Given the description of an element on the screen output the (x, y) to click on. 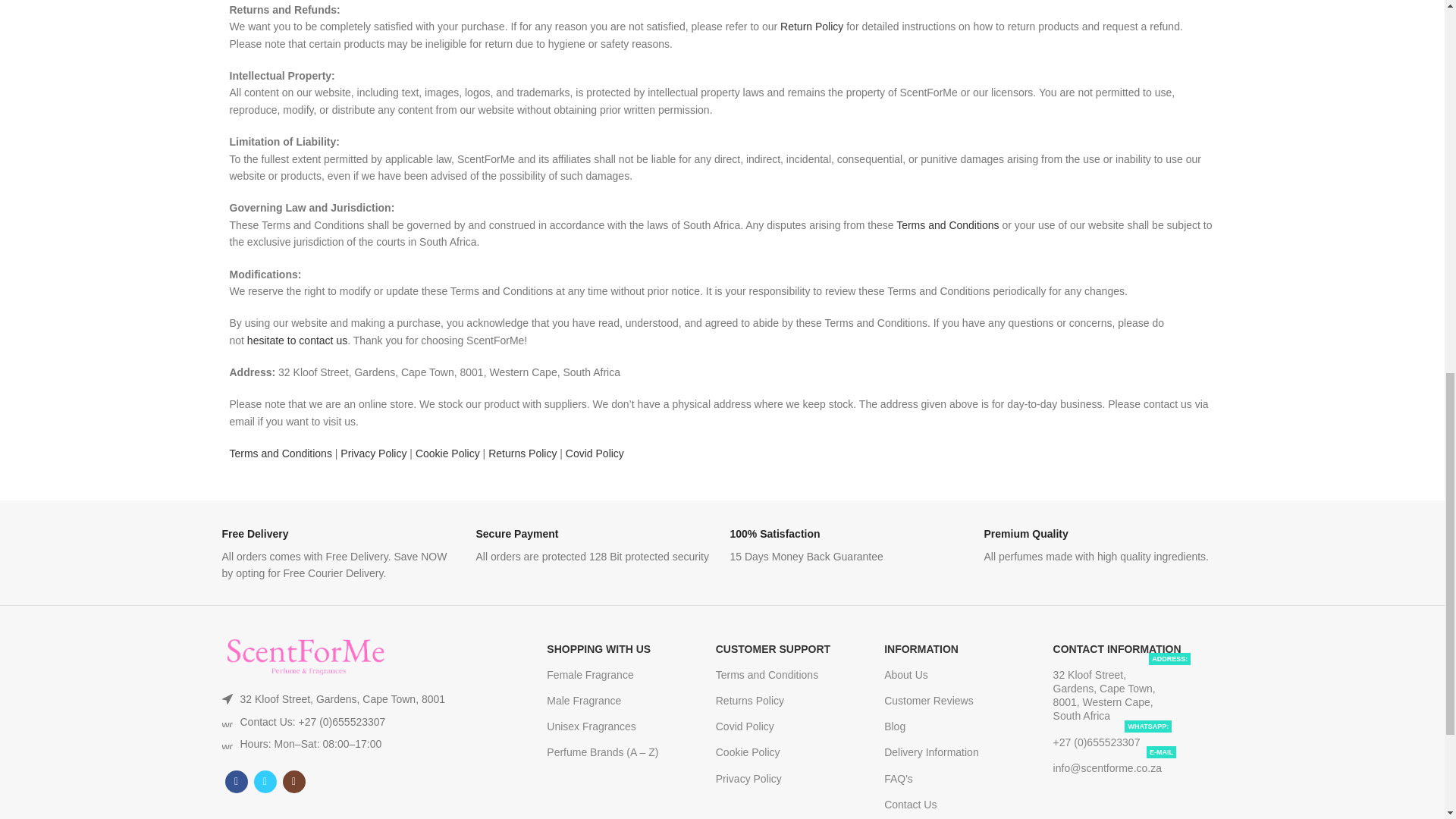
wd-cursor-dark (226, 698)
wd-envelope-dark (226, 743)
wd-phone-dark (226, 721)
